Given the description of an element on the screen output the (x, y) to click on. 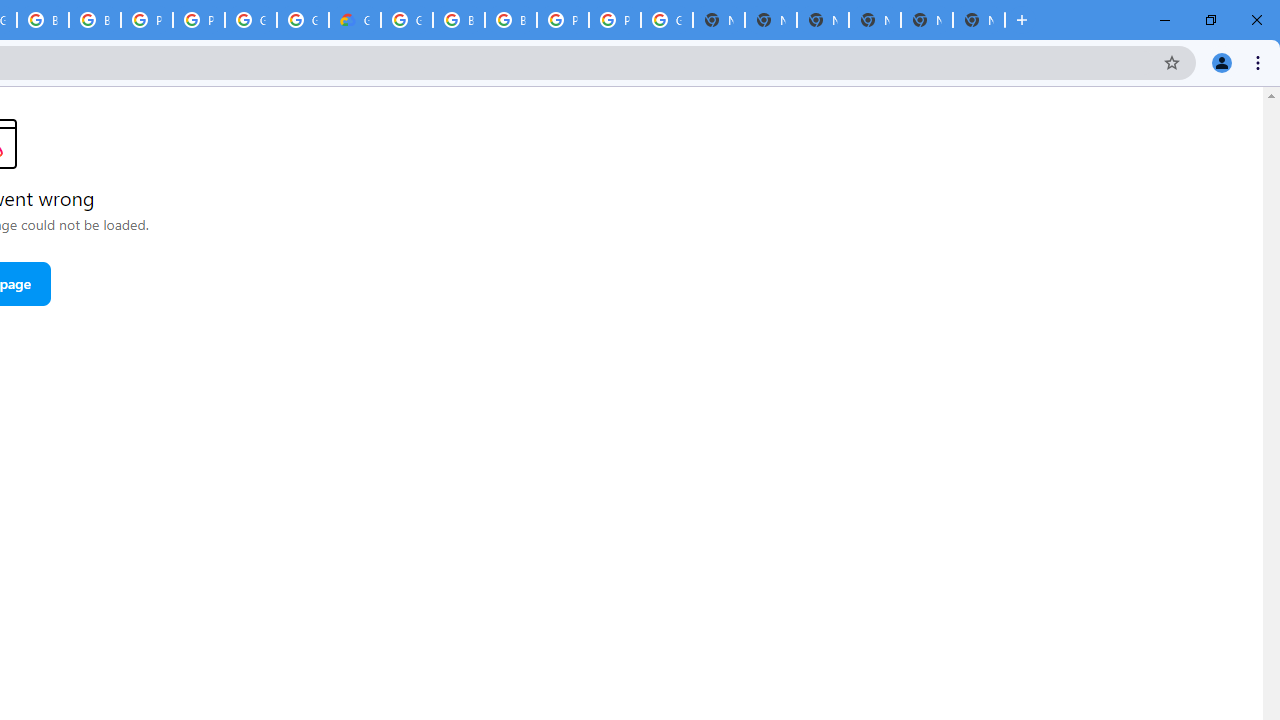
Browse Chrome as a guest - Computer - Google Chrome Help (42, 20)
Google Cloud Platform (406, 20)
Google Cloud Platform (302, 20)
